Given the description of an element on the screen output the (x, y) to click on. 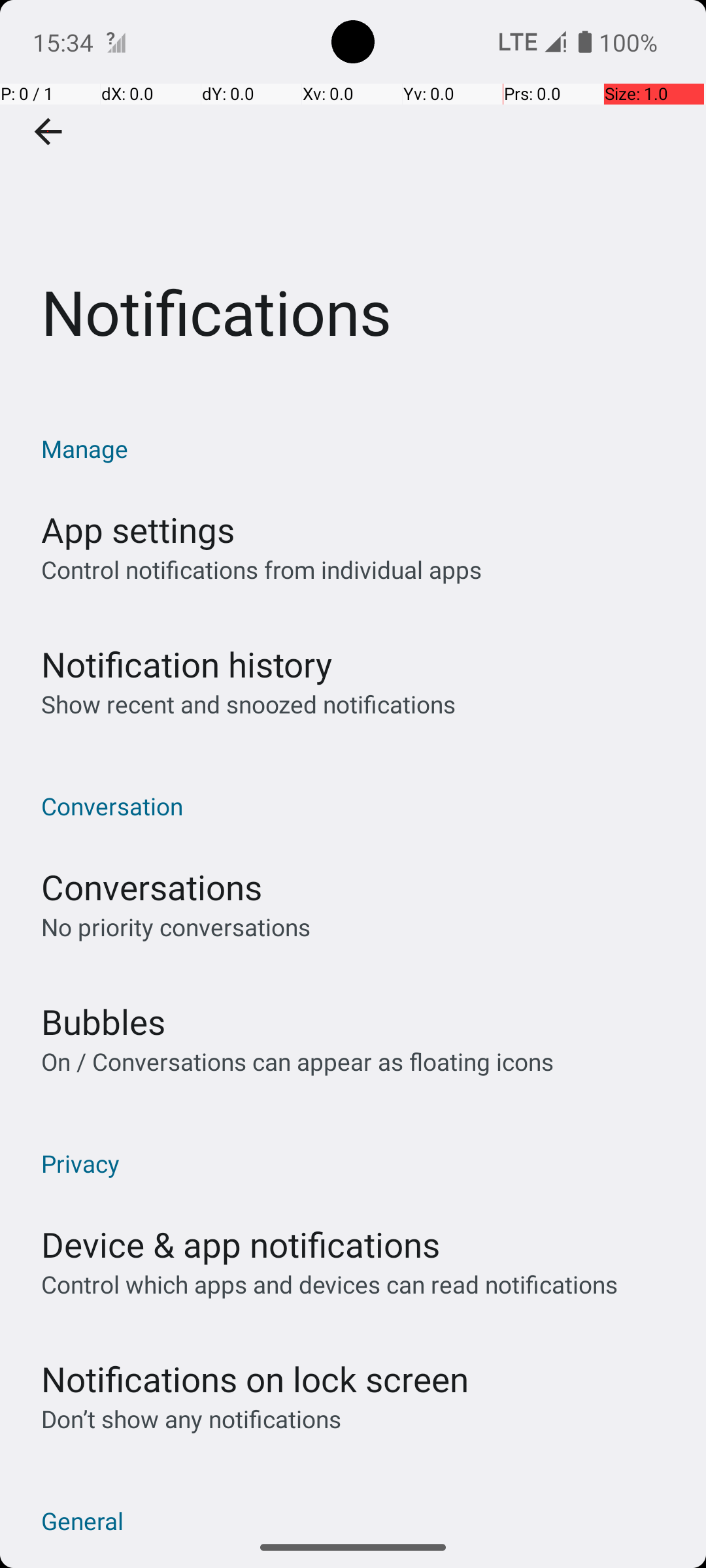
Don’t show any notifications Element type: android.widget.TextView (191, 1418)
